Given the description of an element on the screen output the (x, y) to click on. 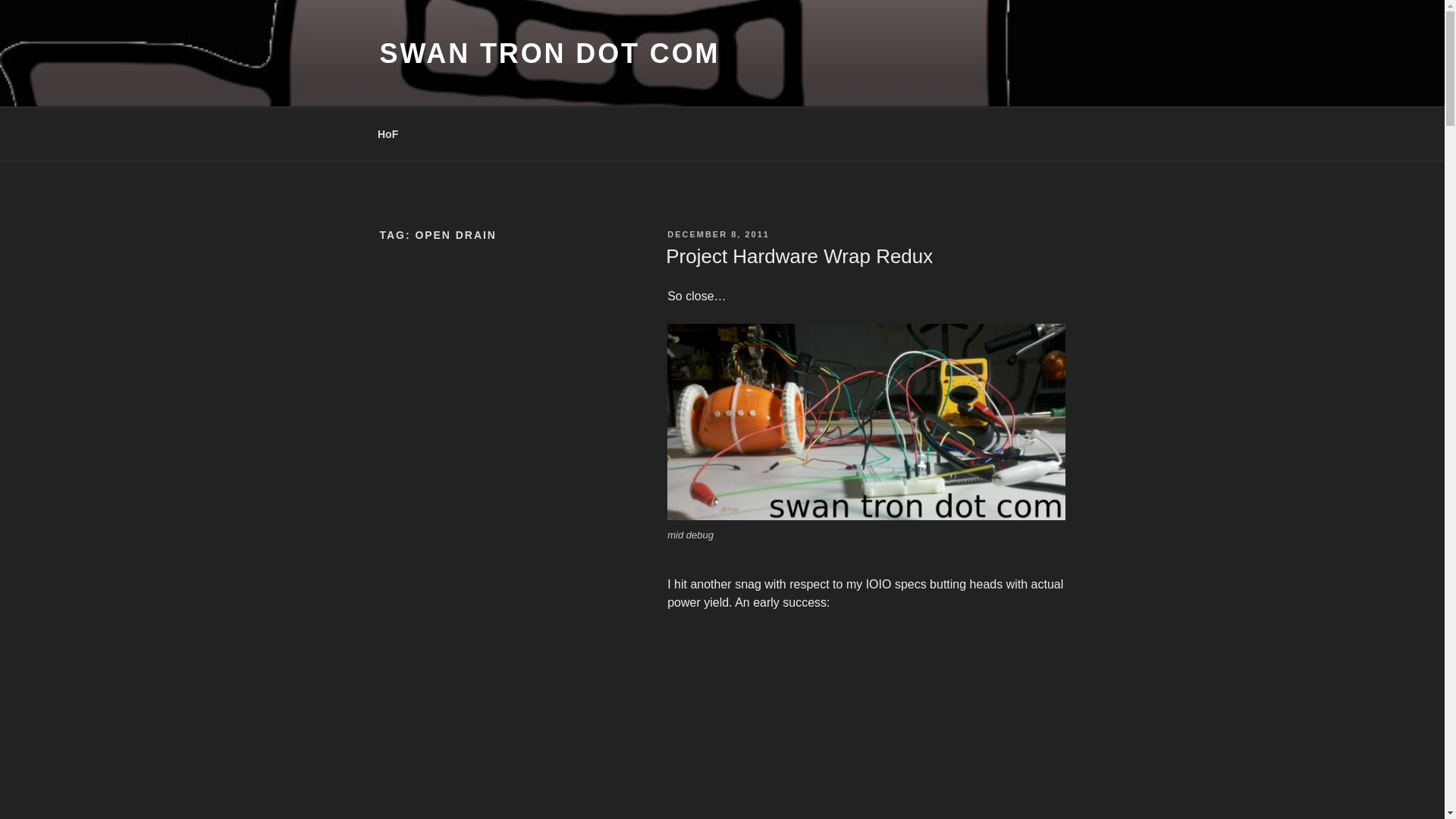
Project Hardware Wrap Redux (799, 255)
DECEMBER 8, 2011 (718, 234)
SWAN TRON DOT COM (548, 52)
HoF (387, 133)
